Given the description of an element on the screen output the (x, y) to click on. 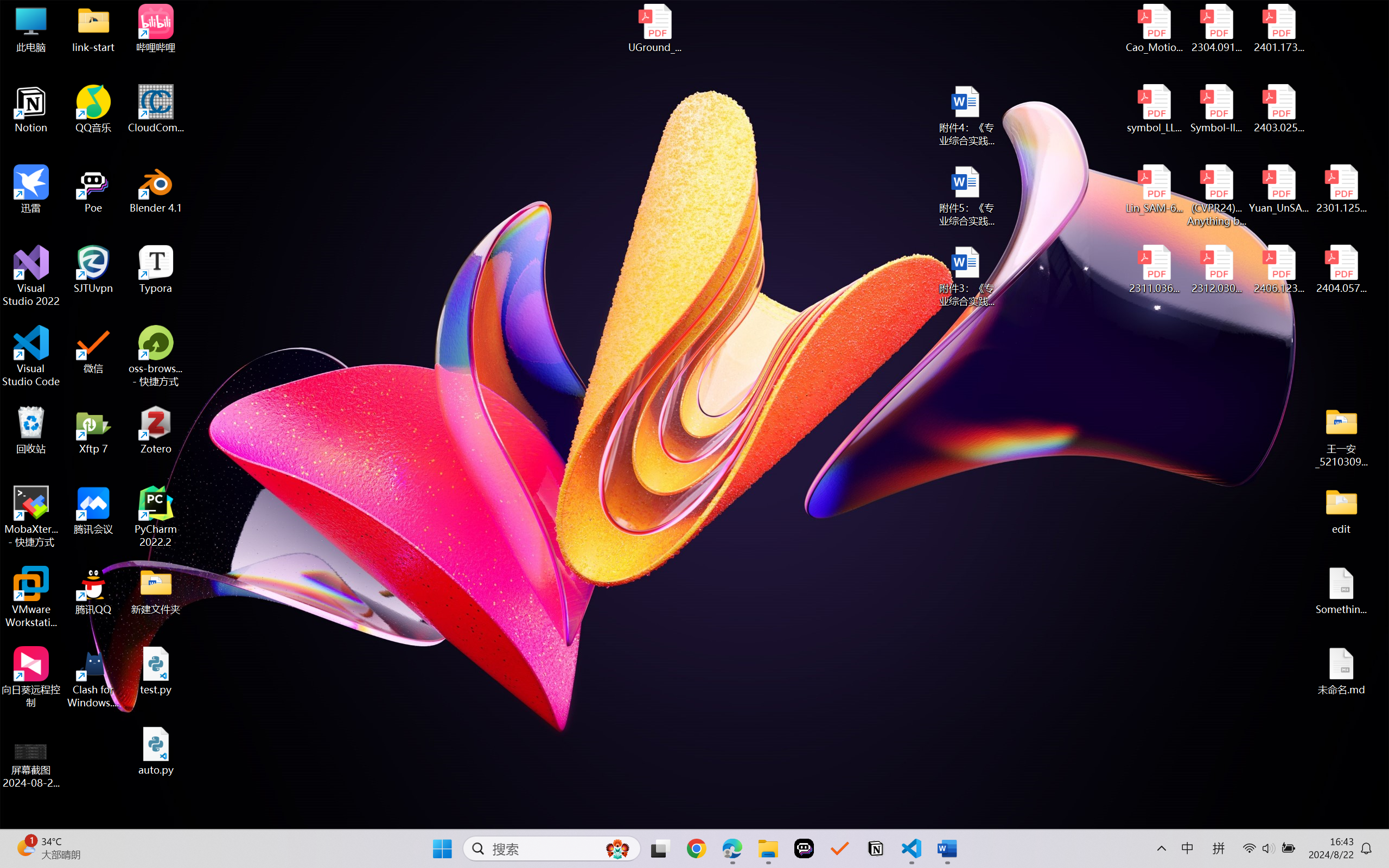
Google Chrome (696, 848)
2312.03032v2.pdf (1216, 269)
